Given the description of an element on the screen output the (x, y) to click on. 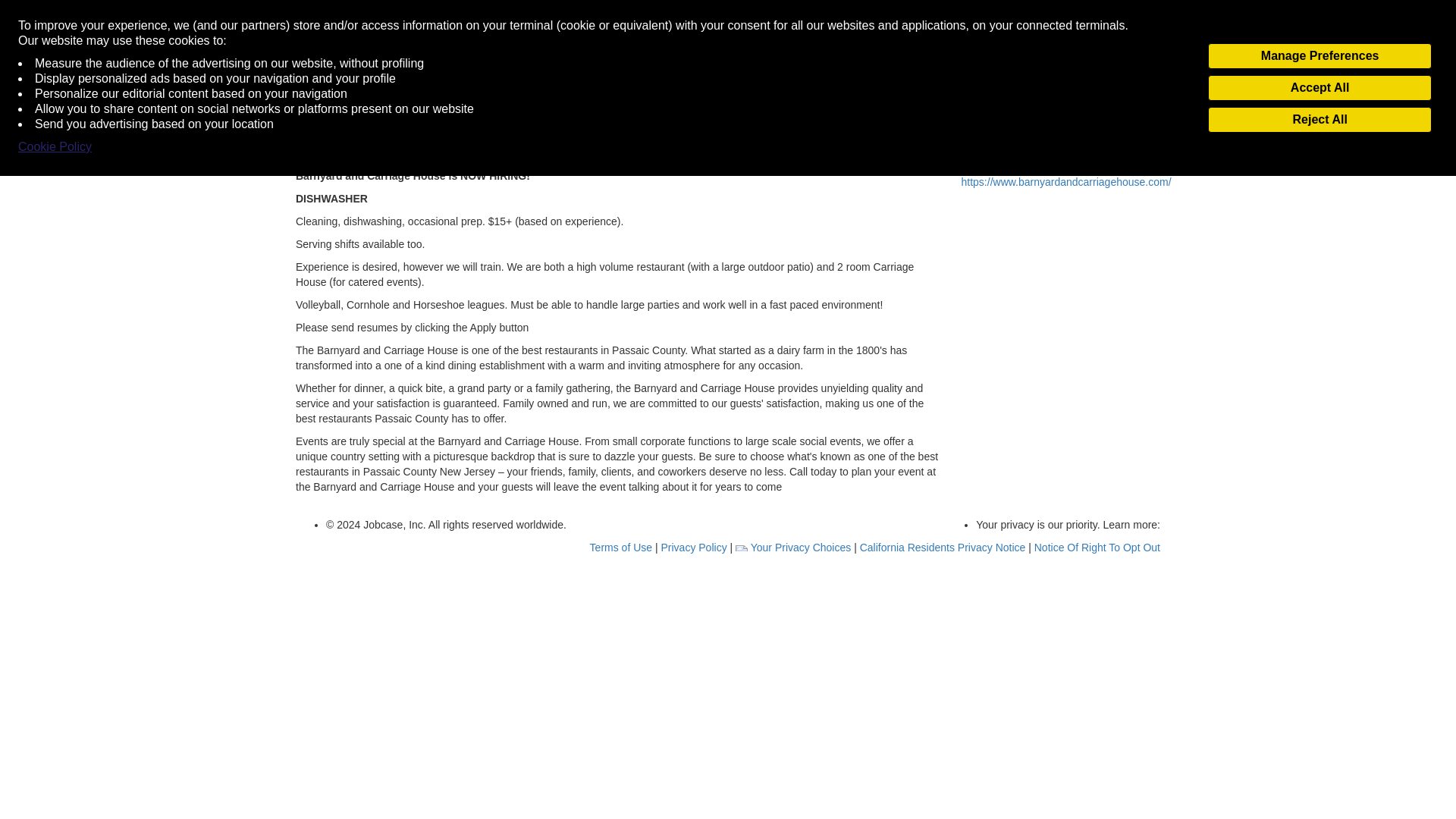
Manage Preferences (1319, 55)
California Residents Privacy Notice (944, 547)
Your Privacy Choices (794, 547)
Notice Of Right To Opt Out (1096, 547)
Terms of Use (622, 547)
Reject All (1319, 119)
The Barnyard And Carriage House (1060, 128)
Cookie Policy (54, 146)
Privacy Policy (695, 547)
Accept All (1319, 87)
Back to Results (332, 21)
